Given the description of an element on the screen output the (x, y) to click on. 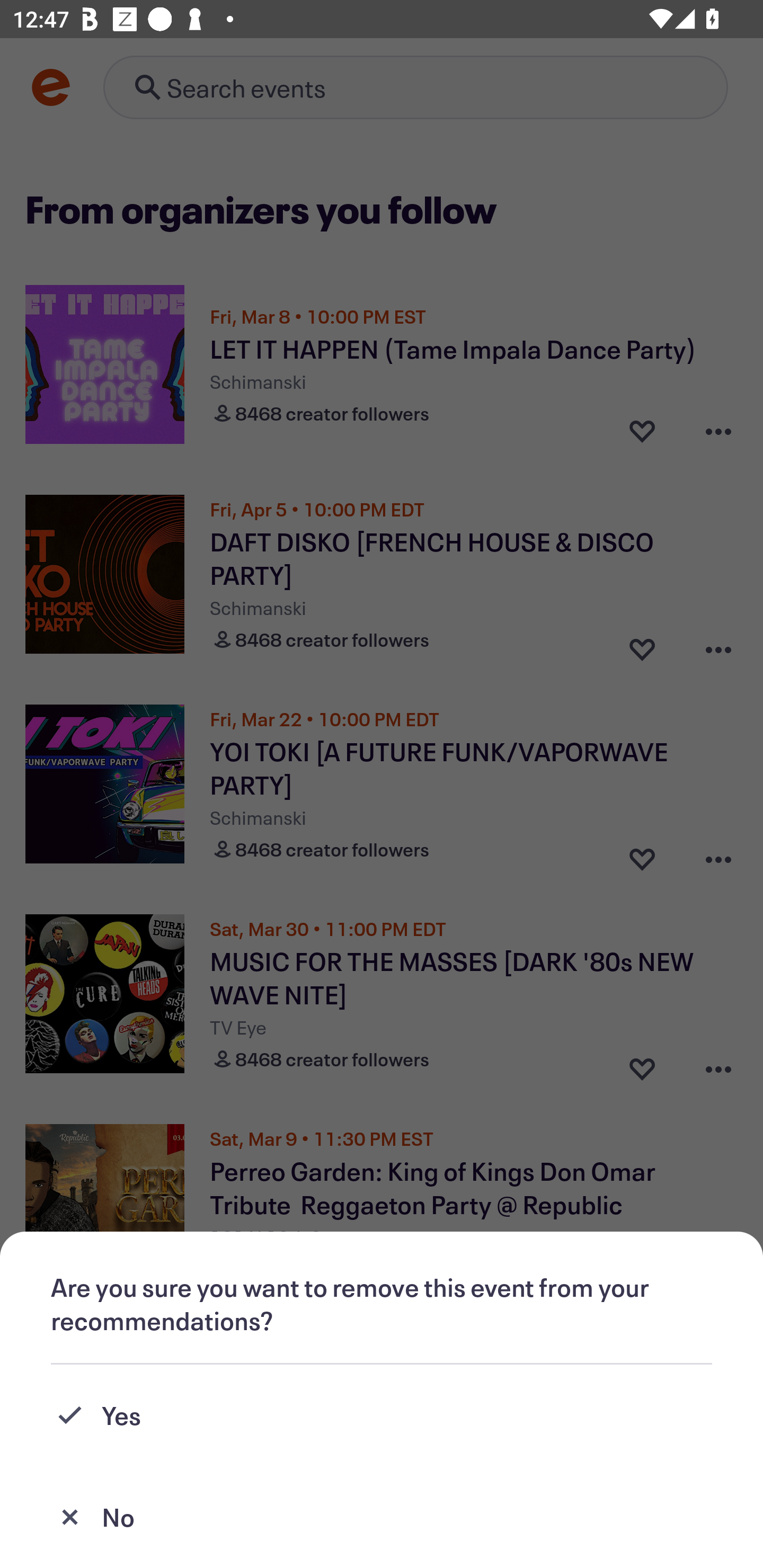
Yes (381, 1415)
No (381, 1517)
